Given the description of an element on the screen output the (x, y) to click on. 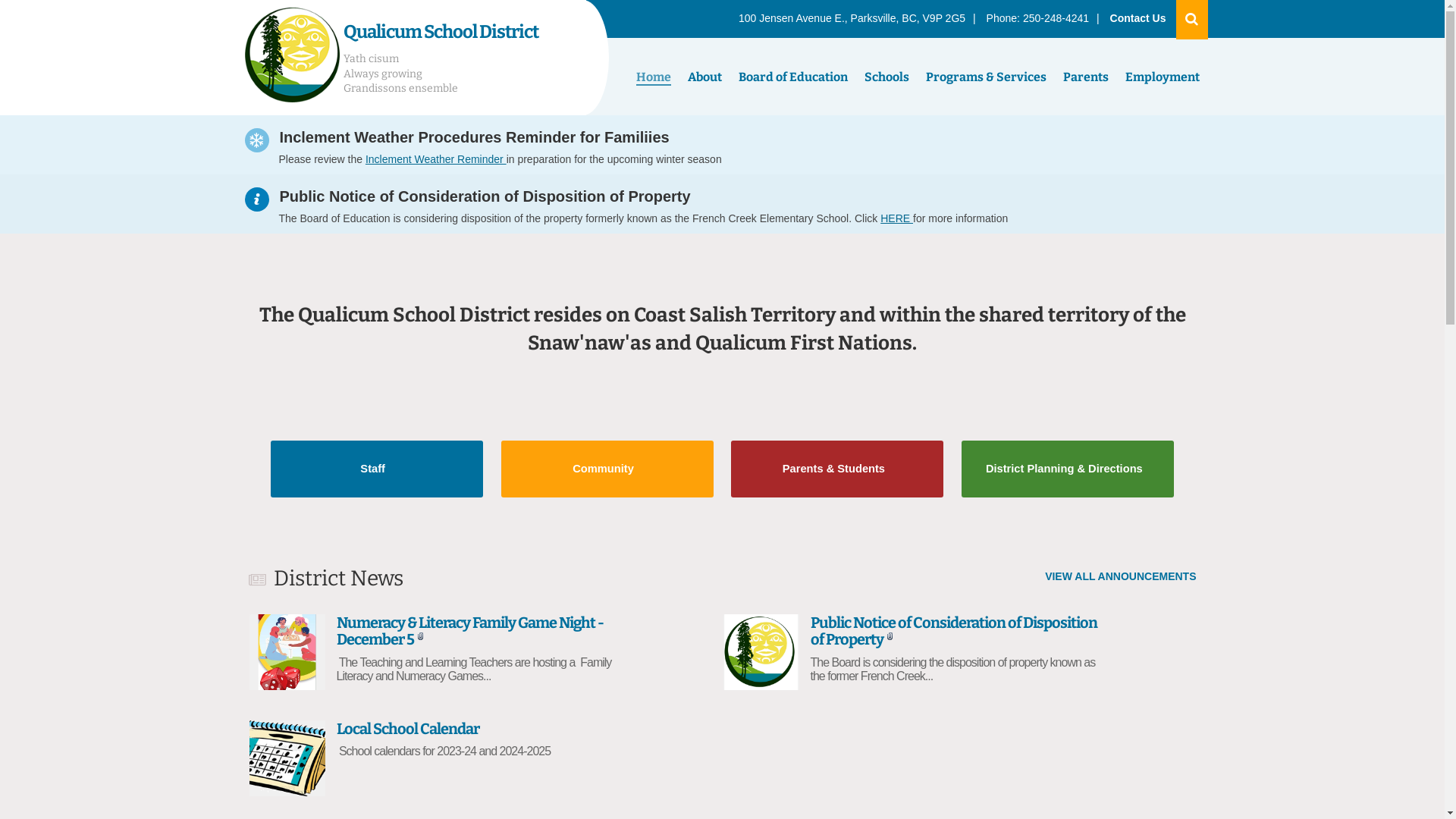
Board of Education Element type: text (792, 76)
District Planning & Directions Element type: text (1067, 468)
Home Element type: text (653, 76)
Inclement Weather Reminder Element type: text (435, 159)
250-248-4241 Element type: text (1055, 18)
Parents & Students Element type: text (837, 468)
Staff Element type: text (376, 468)
Employment Element type: text (1161, 76)
Public Notice of Consideration of Disposition of Property Element type: text (486, 194)
Parents Element type: text (1085, 76)
Schools Element type: text (885, 76)
Programs & Services Element type: text (985, 76)
Contact Us Element type: text (1138, 18)
District News Element type: text (337, 577)
VIEW ALL ANNOUNCEMENTS Element type: text (1119, 576)
Back to Home Element type: hover (291, 56)
About Element type: text (704, 76)
Inclement Weather Procedures Reminder for Familiies Element type: text (475, 135)
Community Element type: text (607, 468)
HERE Element type: text (896, 218)
